Given the description of an element on the screen output the (x, y) to click on. 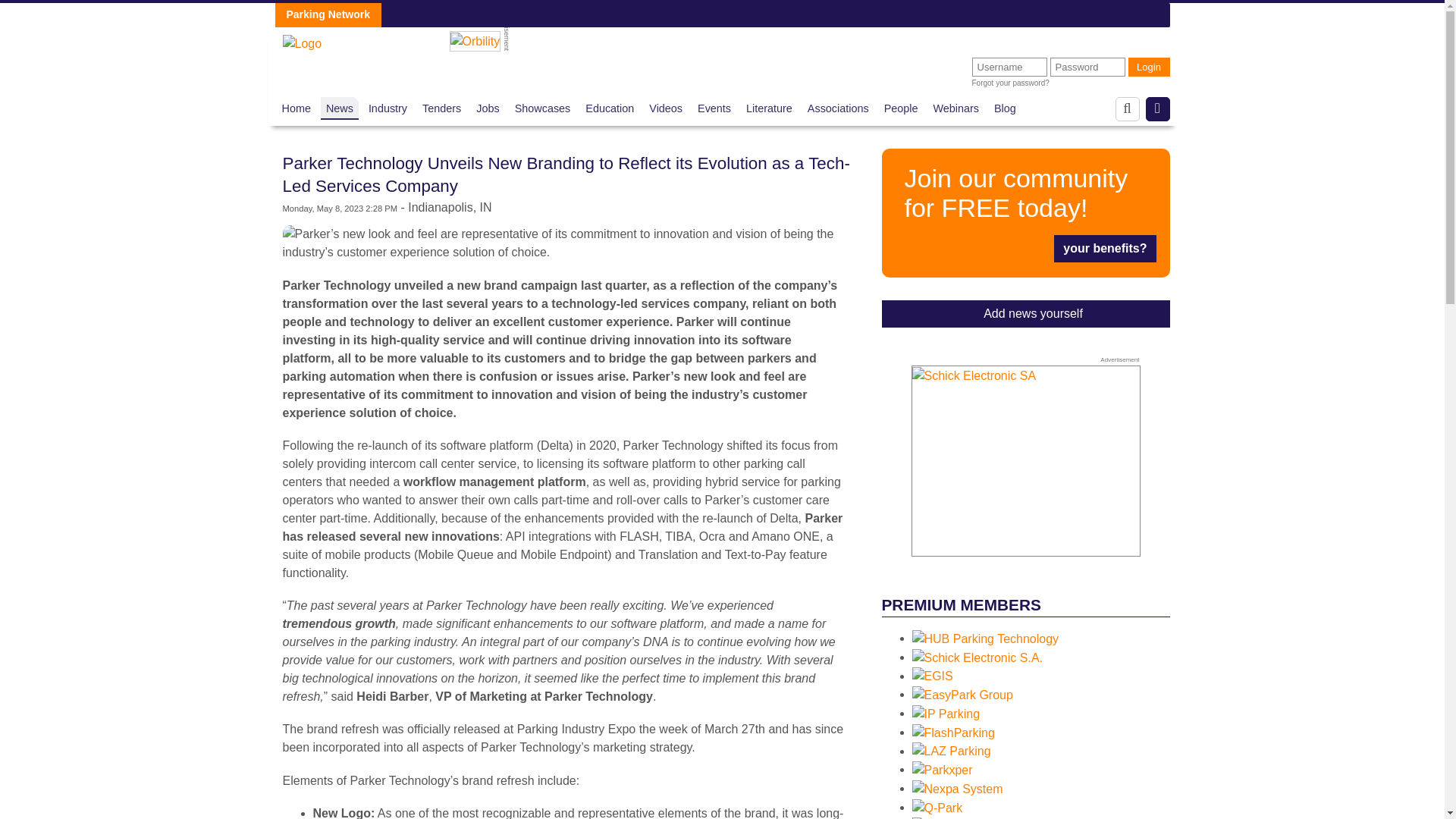
Showcases (542, 108)
Videos (665, 108)
Education (609, 108)
Parking Network (301, 38)
Tenders (441, 108)
Home (296, 108)
Events (713, 108)
Blog (1005, 108)
Jobs (487, 108)
Associations (838, 108)
People (900, 108)
Login (1149, 66)
Webinars (955, 108)
Industry (387, 108)
Register here (1024, 212)
